Given the description of an element on the screen output the (x, y) to click on. 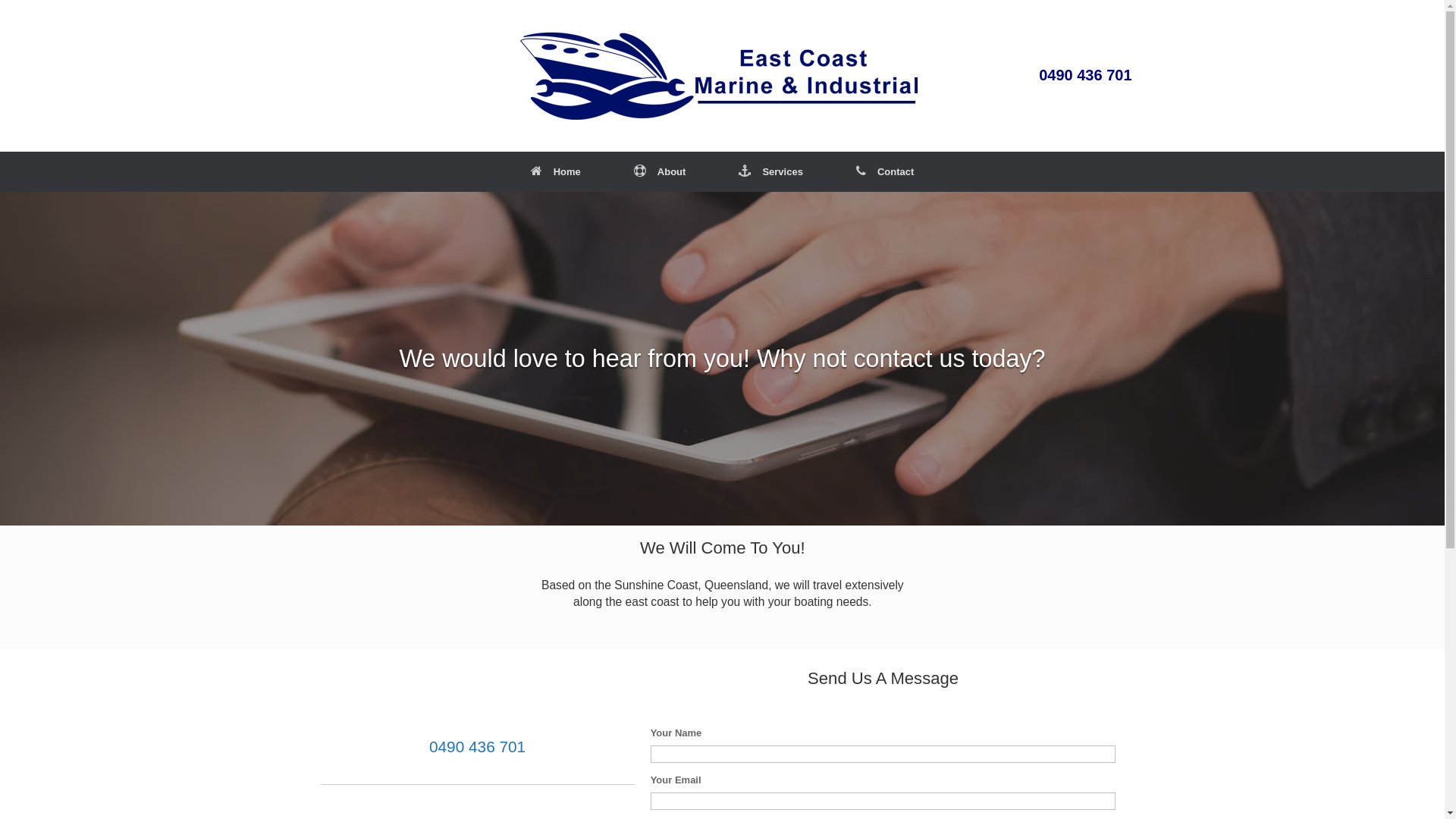
East Coast Marine & Industrial Element type: hover (721, 75)
Home Element type: text (555, 171)
Contact Element type: text (884, 171)
About Element type: text (659, 171)
Services Element type: text (770, 171)
